Given the description of an element on the screen output the (x, y) to click on. 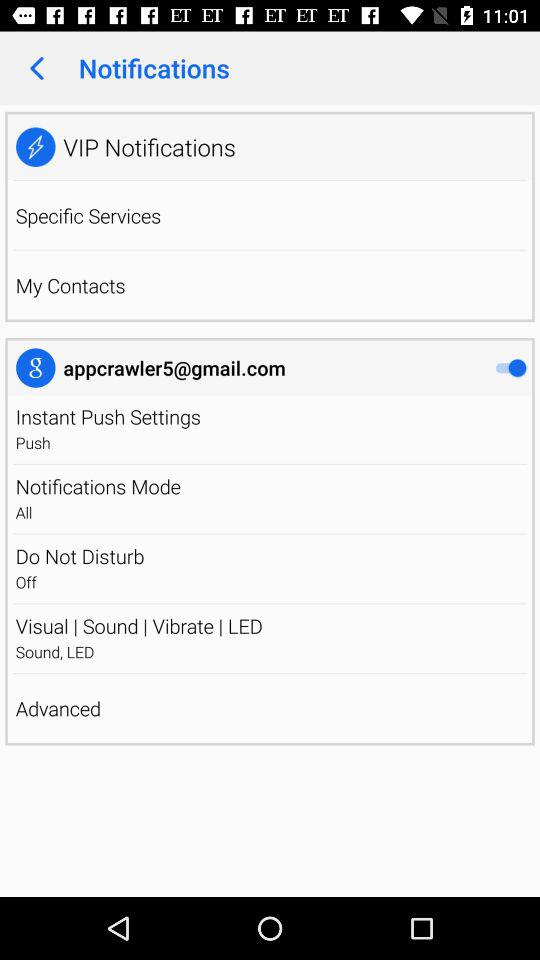
choose item above the do not disturb app (269, 534)
